Given the description of an element on the screen output the (x, y) to click on. 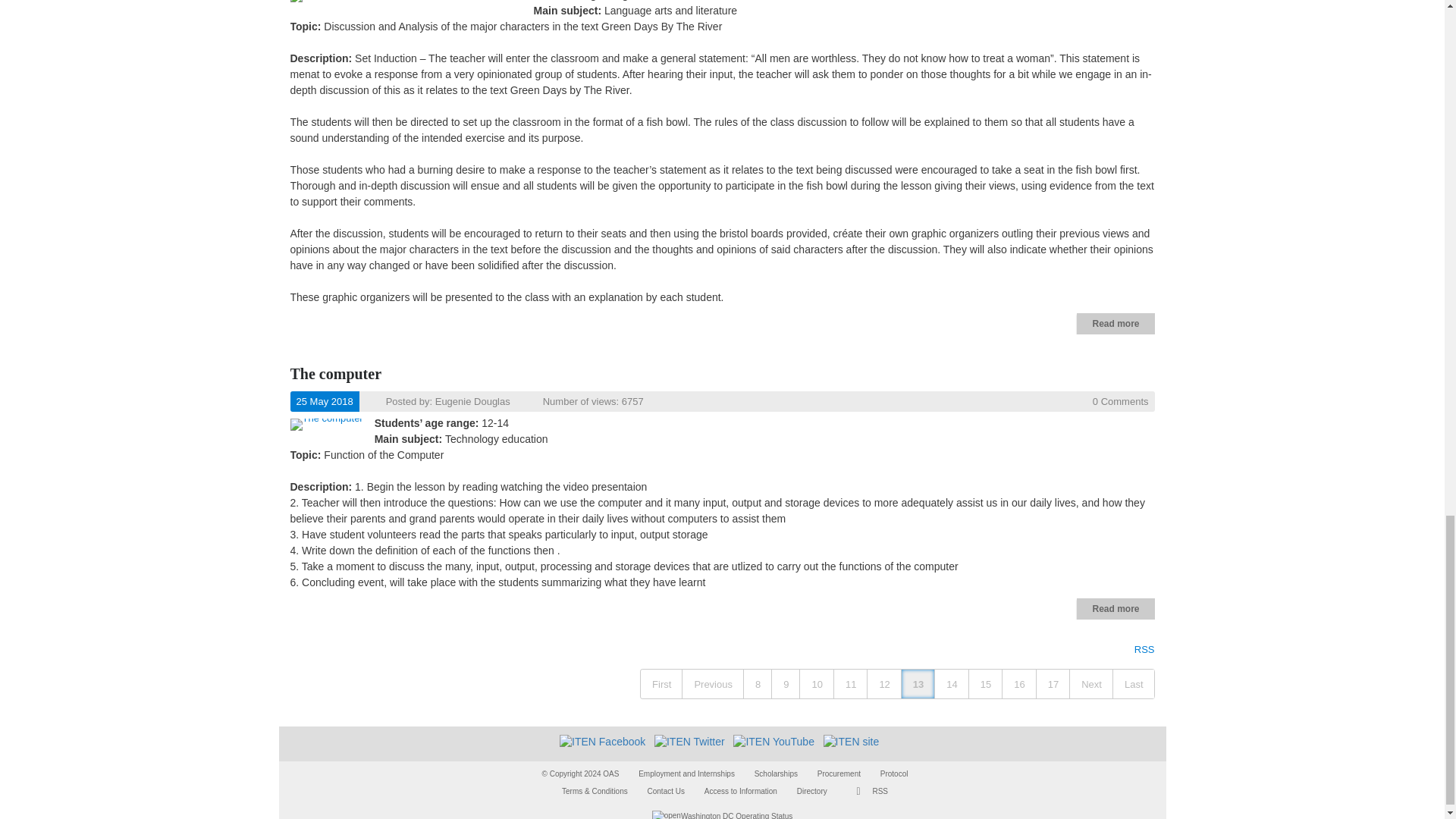
ITEN Facebook (602, 742)
ITEN Twitter (689, 740)
ITEN Twitter (689, 742)
ITEN Facebook (602, 740)
